Given the description of an element on the screen output the (x, y) to click on. 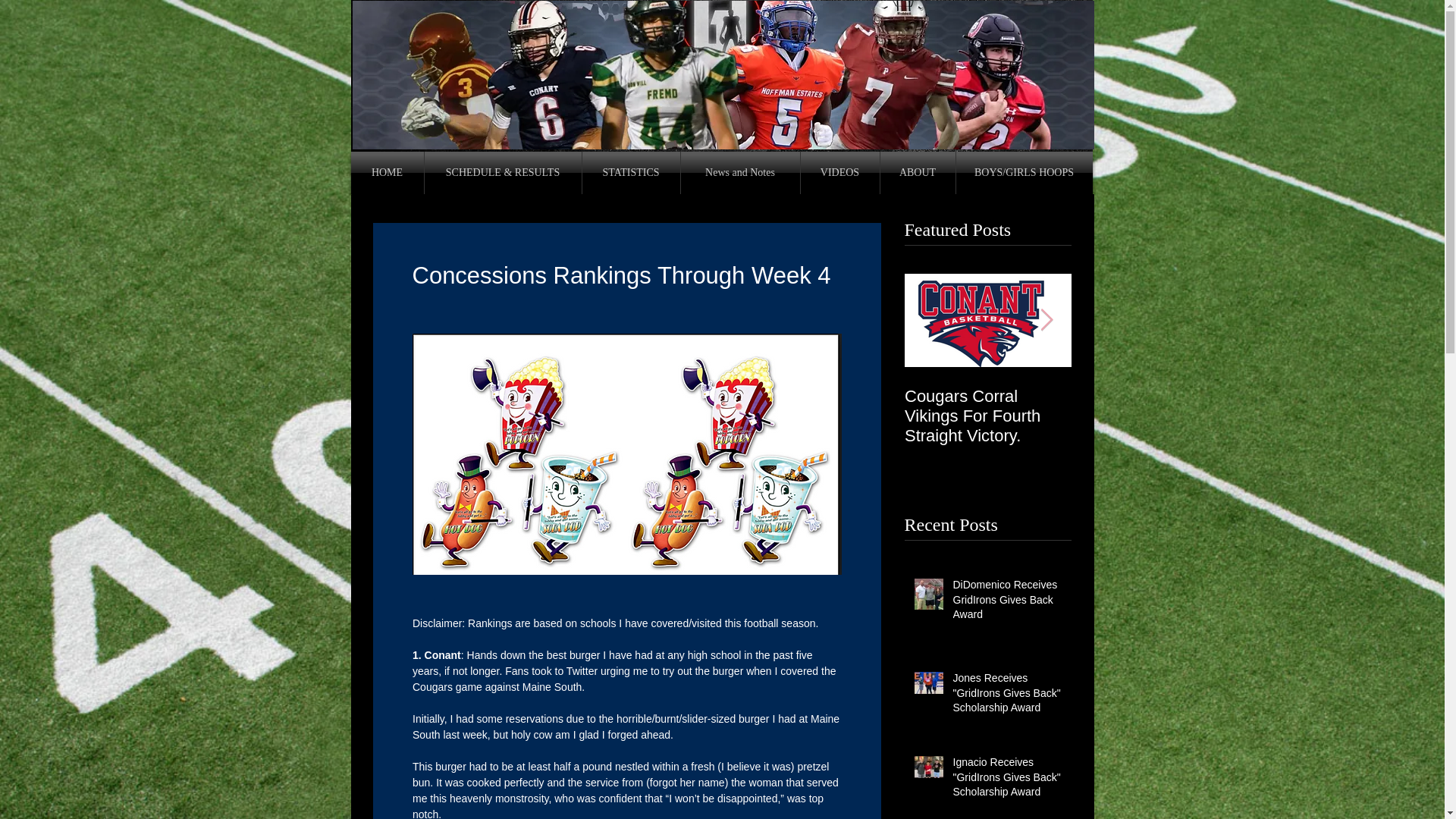
News and Notes (740, 172)
VIDEOS (839, 172)
ABOUT (917, 172)
Ignacio Receives "GridIrons Gives Back" Scholarship Award (1006, 780)
Cougars Corral Vikings For Fourth Straight Victory. (987, 415)
HOME (386, 172)
Boock Boosts Broncos Past Saxons (1153, 405)
Jones Receives "GridIrons Gives Back" Scholarship Award (1006, 695)
DiDomenico Receives GridIrons Gives Back Award (1006, 603)
STATISTICS (630, 172)
